Given the description of an element on the screen output the (x, y) to click on. 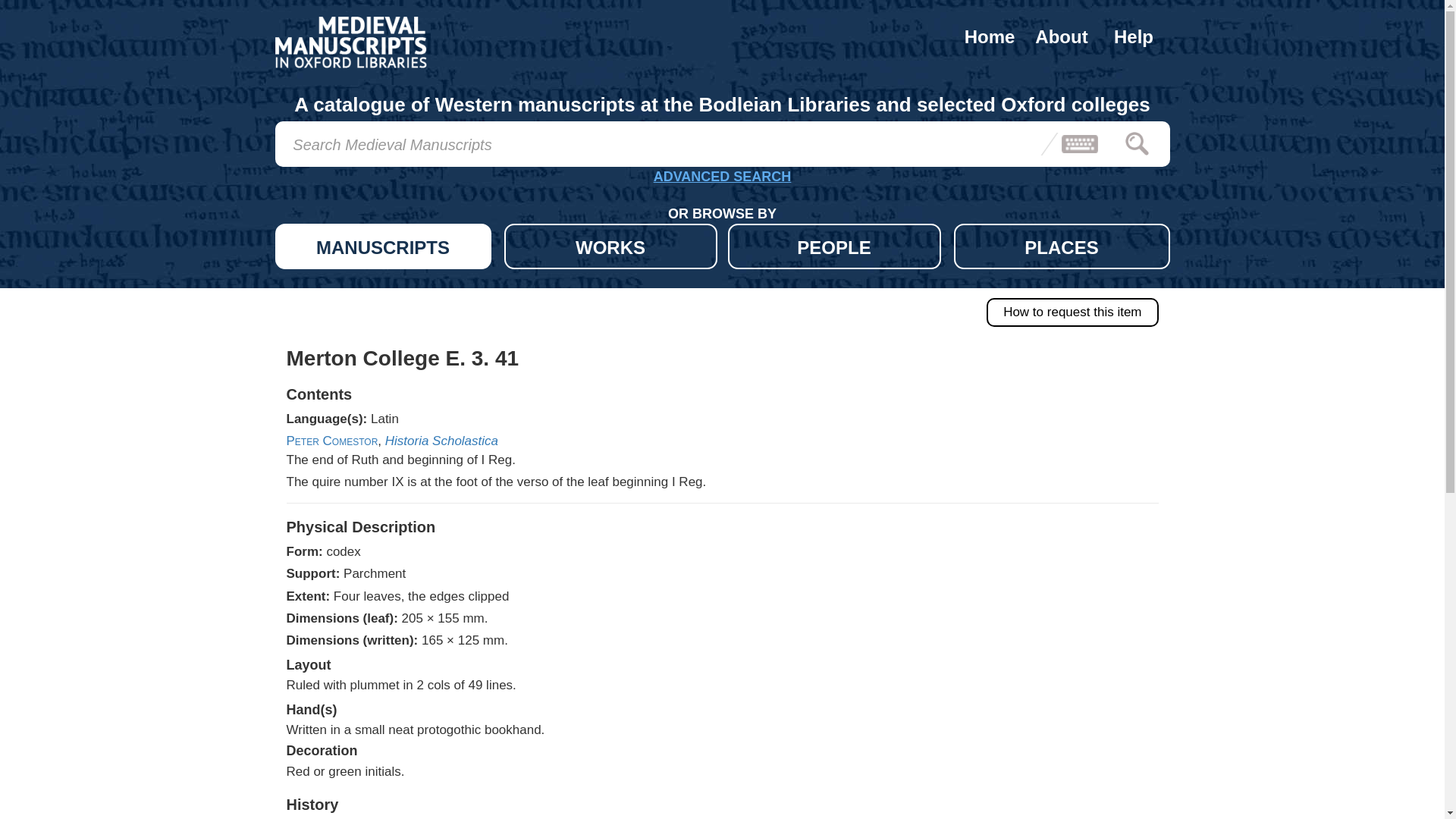
MANUSCRIPTS (382, 246)
PEOPLE (834, 246)
Historia Scholastica (441, 440)
About (1061, 36)
Help (1133, 36)
PLACES (1061, 246)
ADVANCED SEARCH (721, 178)
WORKS (609, 246)
How to request this item (1072, 312)
Home (989, 36)
Peter Comestor (332, 440)
